Given the description of an element on the screen output the (x, y) to click on. 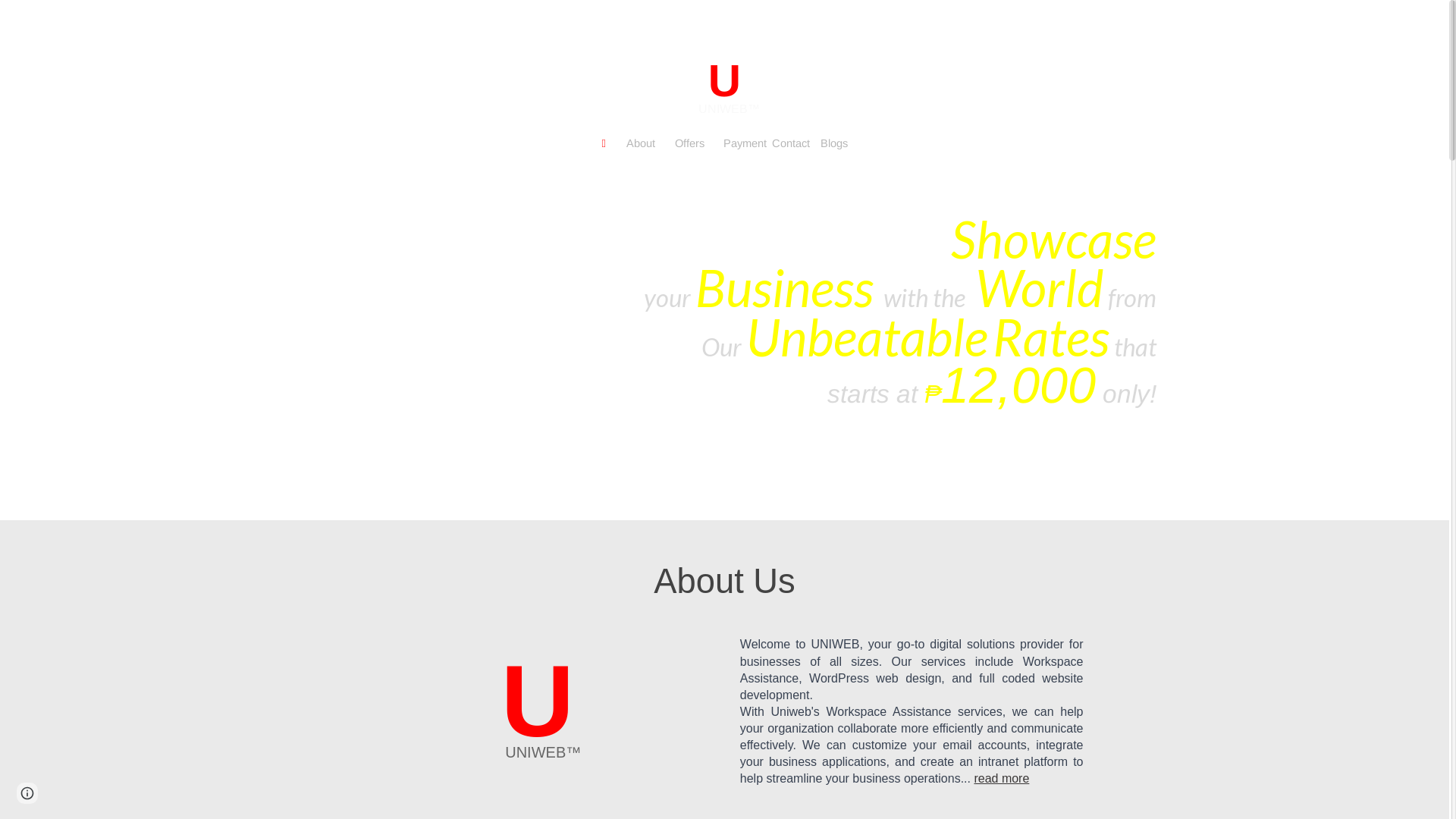
Blogs Element type: text (833, 142)
Payment  Element type: text (747, 142)
read more Element type: text (1001, 777)
About  Element type: text (650, 142)
Contact  Element type: text (795, 142)
Offers  Element type: text (698, 142)
